Given the description of an element on the screen output the (x, y) to click on. 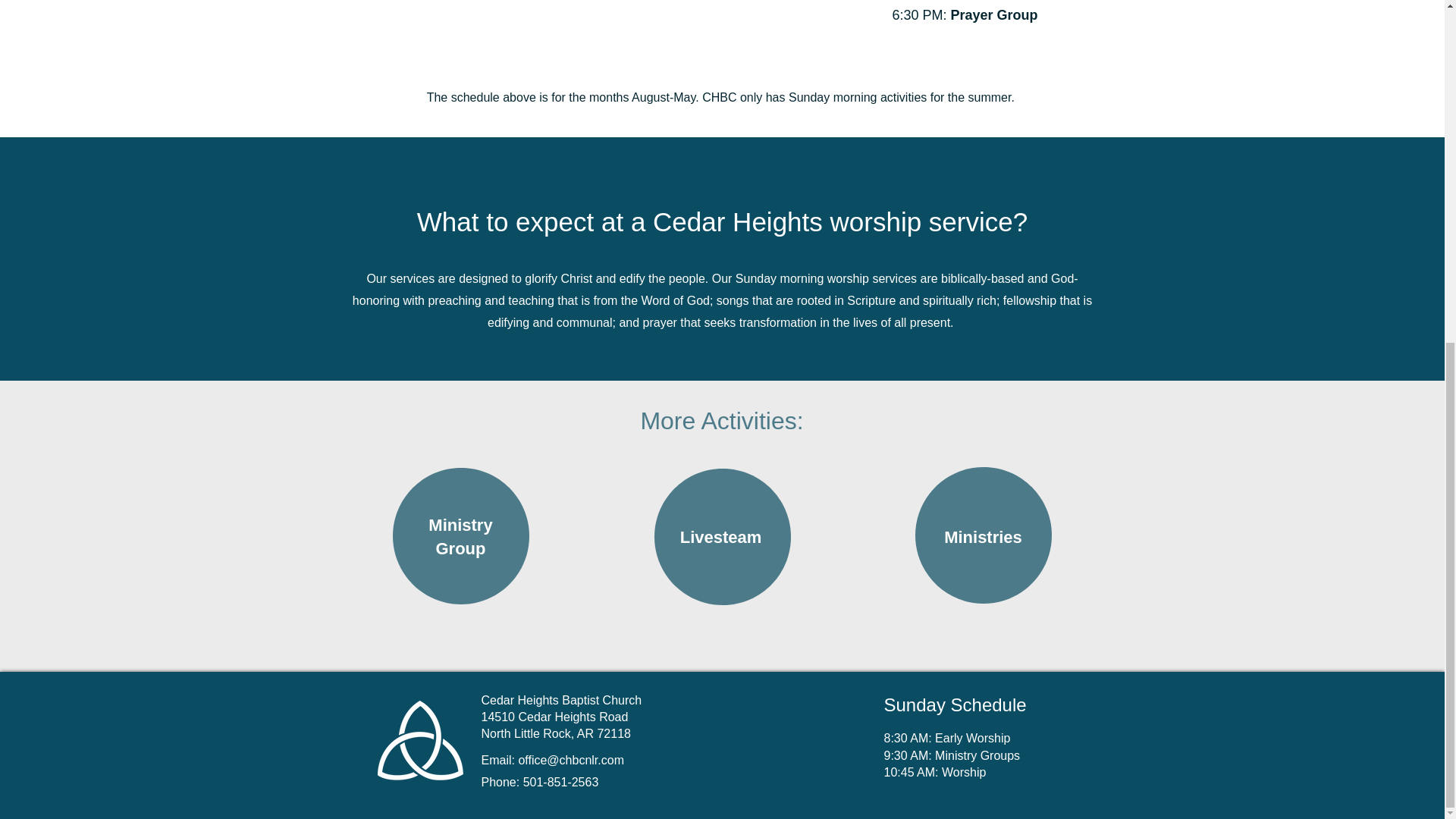
Ministries (982, 537)
Livesteam (720, 537)
